Given the description of an element on the screen output the (x, y) to click on. 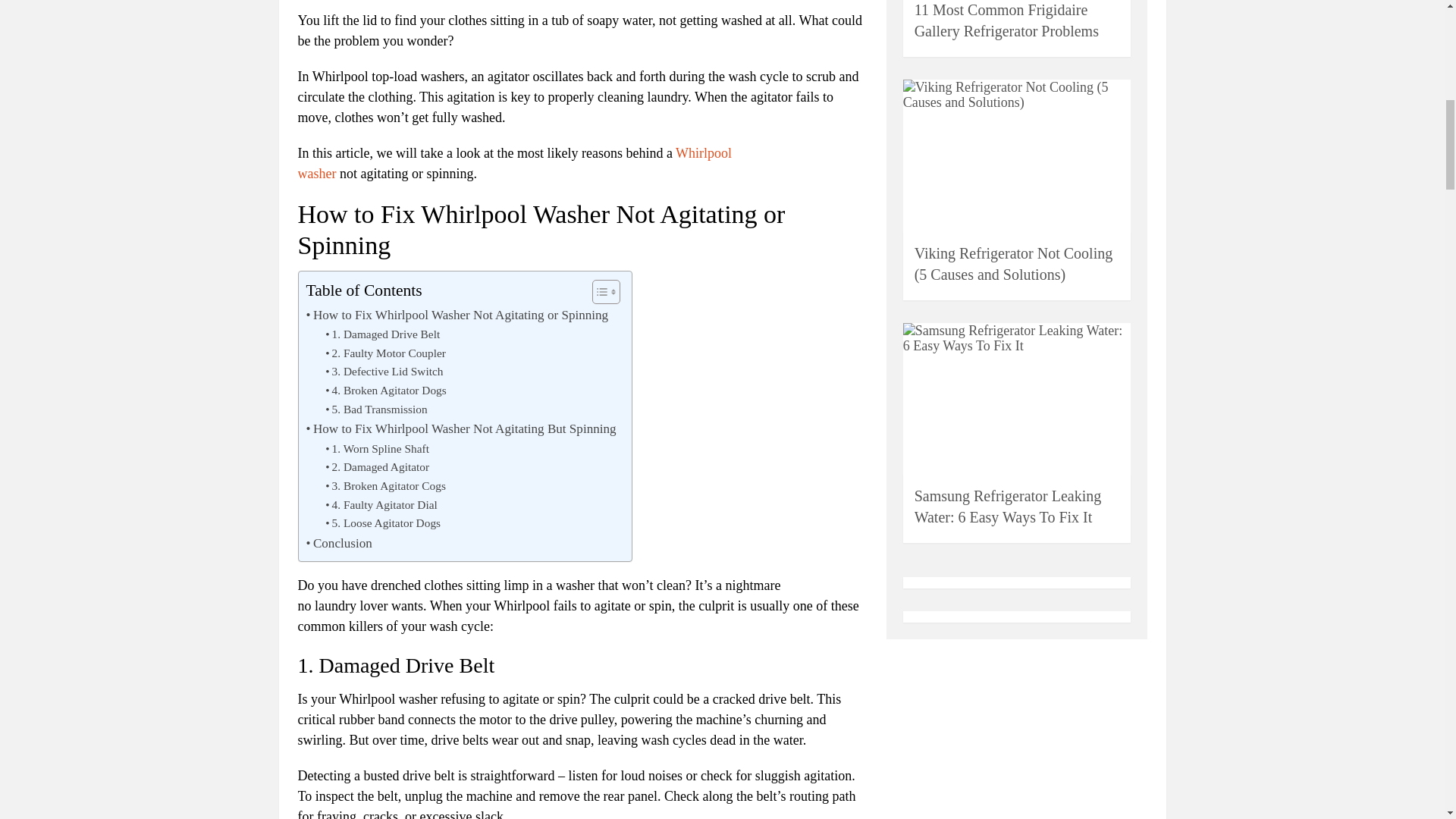
How to Fix Whirlpool Washer Not Agitating or Spinning (456, 314)
Conclusion (338, 543)
How to Fix Whirlpool Washer Not Agitating But Spinning (460, 428)
5. Bad Transmission (375, 409)
5. Loose Agitator Dogs (382, 523)
3. Defective Lid Switch (383, 371)
2. Faulty Motor Coupler (384, 353)
3. Broken Agitator Cogs (384, 486)
1. Damaged Drive Belt (381, 334)
2. Faulty Motor Coupler (384, 353)
4. Faulty Agitator Dial (381, 505)
